Given the description of an element on the screen output the (x, y) to click on. 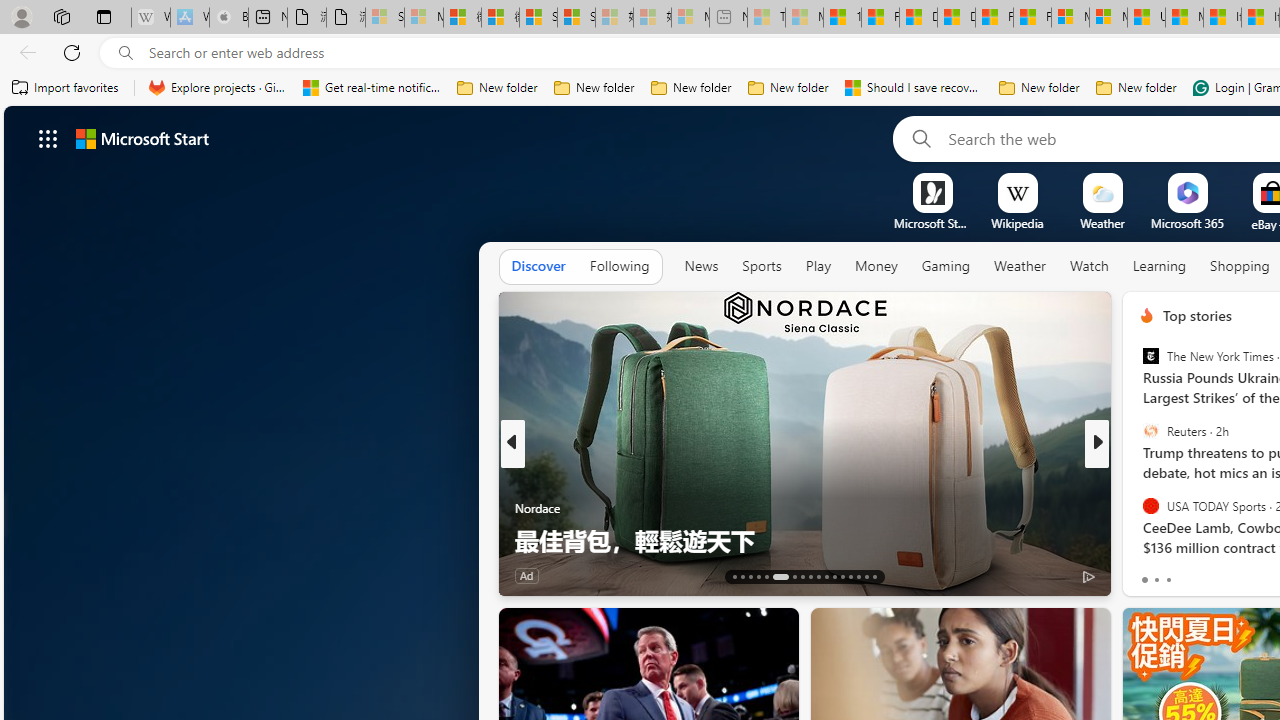
AutomationID: tab-21 (810, 576)
View comments 8 Comment (1234, 574)
21 Like (1149, 574)
Reuters (1149, 431)
View comments 460 Comment (1234, 575)
Hey She Thrives (1138, 507)
